Given the description of an element on the screen output the (x, y) to click on. 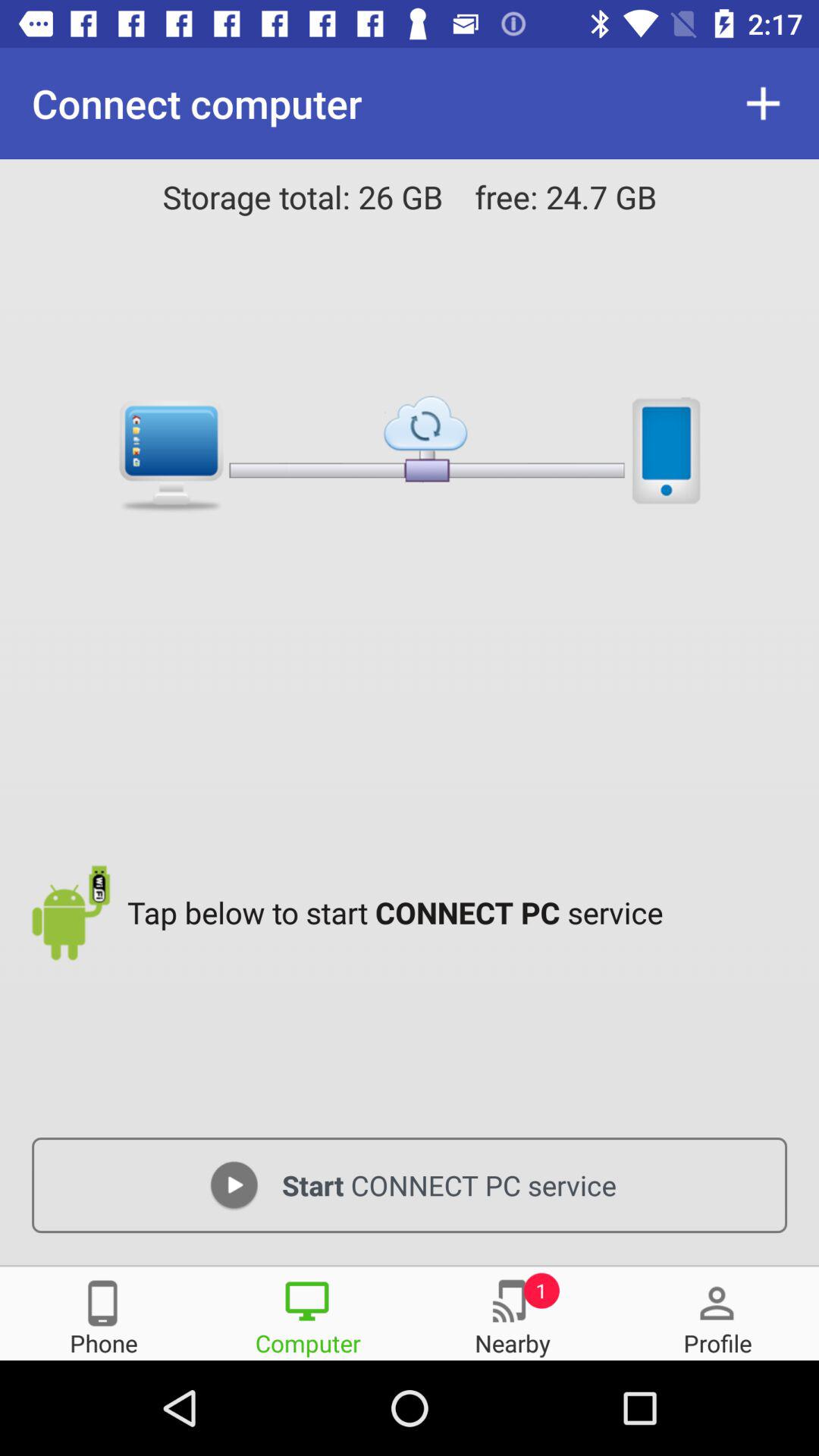
turn off the item above start connect pc (461, 912)
